Given the description of an element on the screen output the (x, y) to click on. 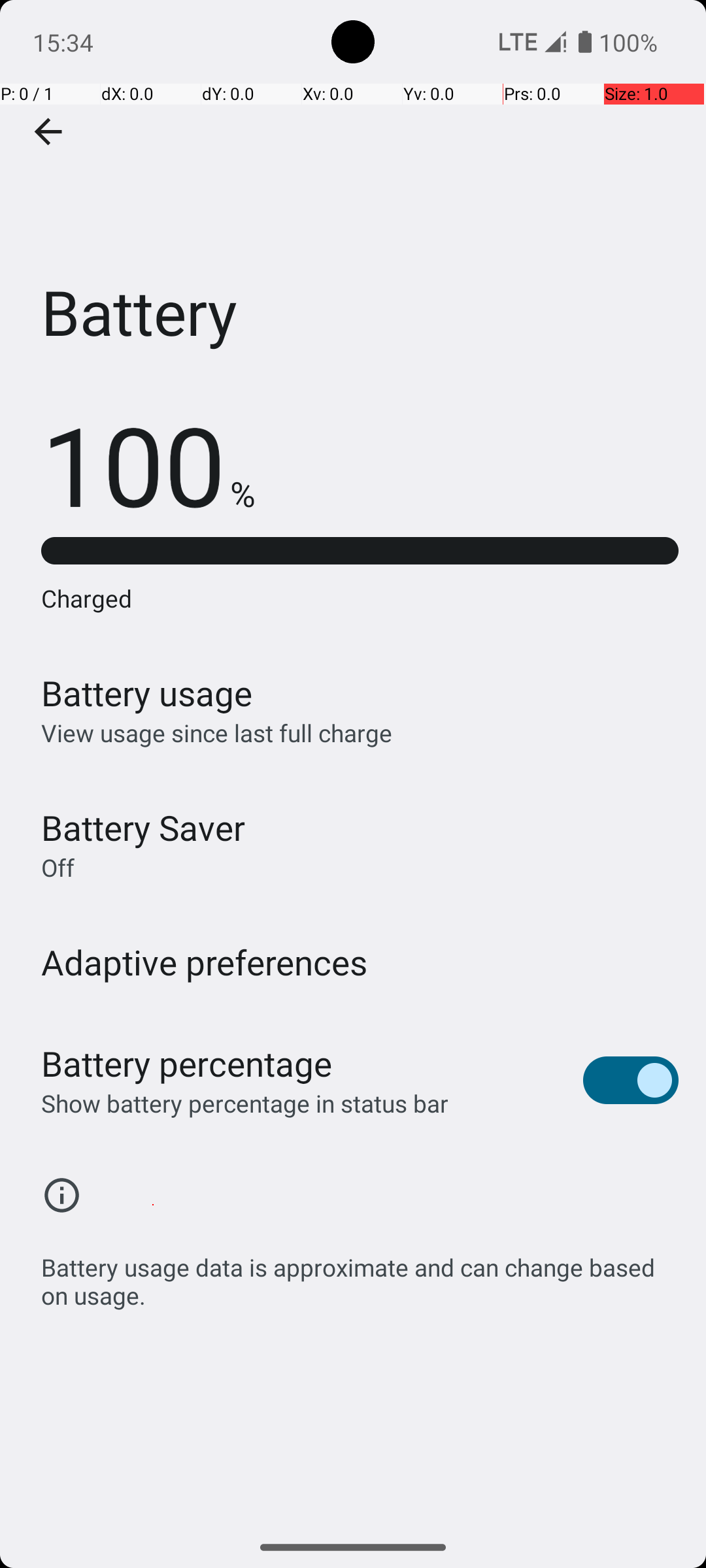
100 % Element type: android.widget.TextView (147, 463)
Charged Element type: android.widget.TextView (359, 597)
View usage since last full charge Element type: android.widget.TextView (216, 732)
Adaptive preferences Element type: android.widget.TextView (204, 961)
Battery percentage Element type: android.widget.TextView (186, 1063)
Show battery percentage in status bar Element type: android.widget.TextView (244, 1102)
Battery usage data is approximate and can change based on usage. Element type: android.widget.TextView (359, 1274)
